Given the description of an element on the screen output the (x, y) to click on. 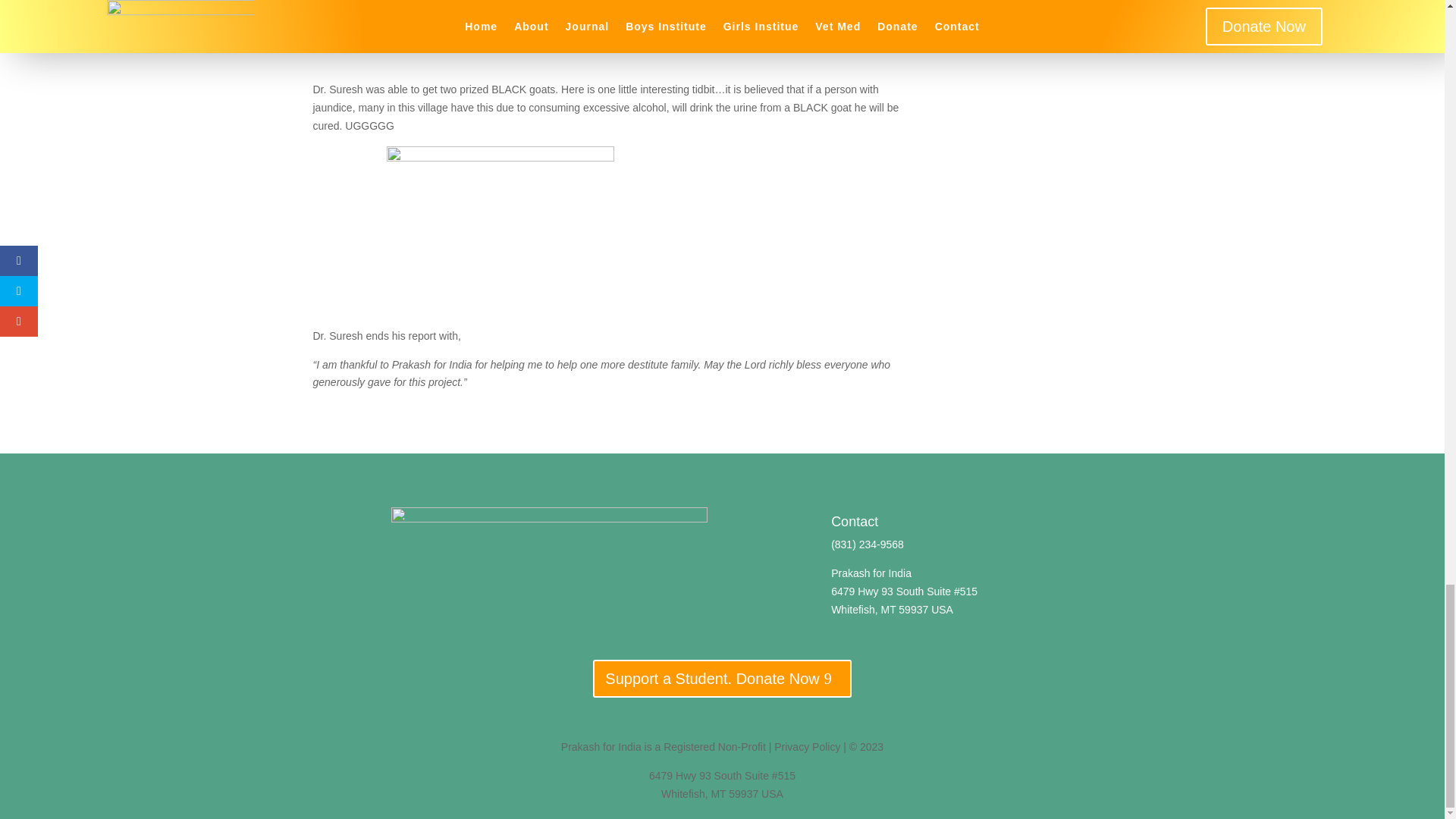
Support a Student. Donate Now (721, 678)
